Given the description of an element on the screen output the (x, y) to click on. 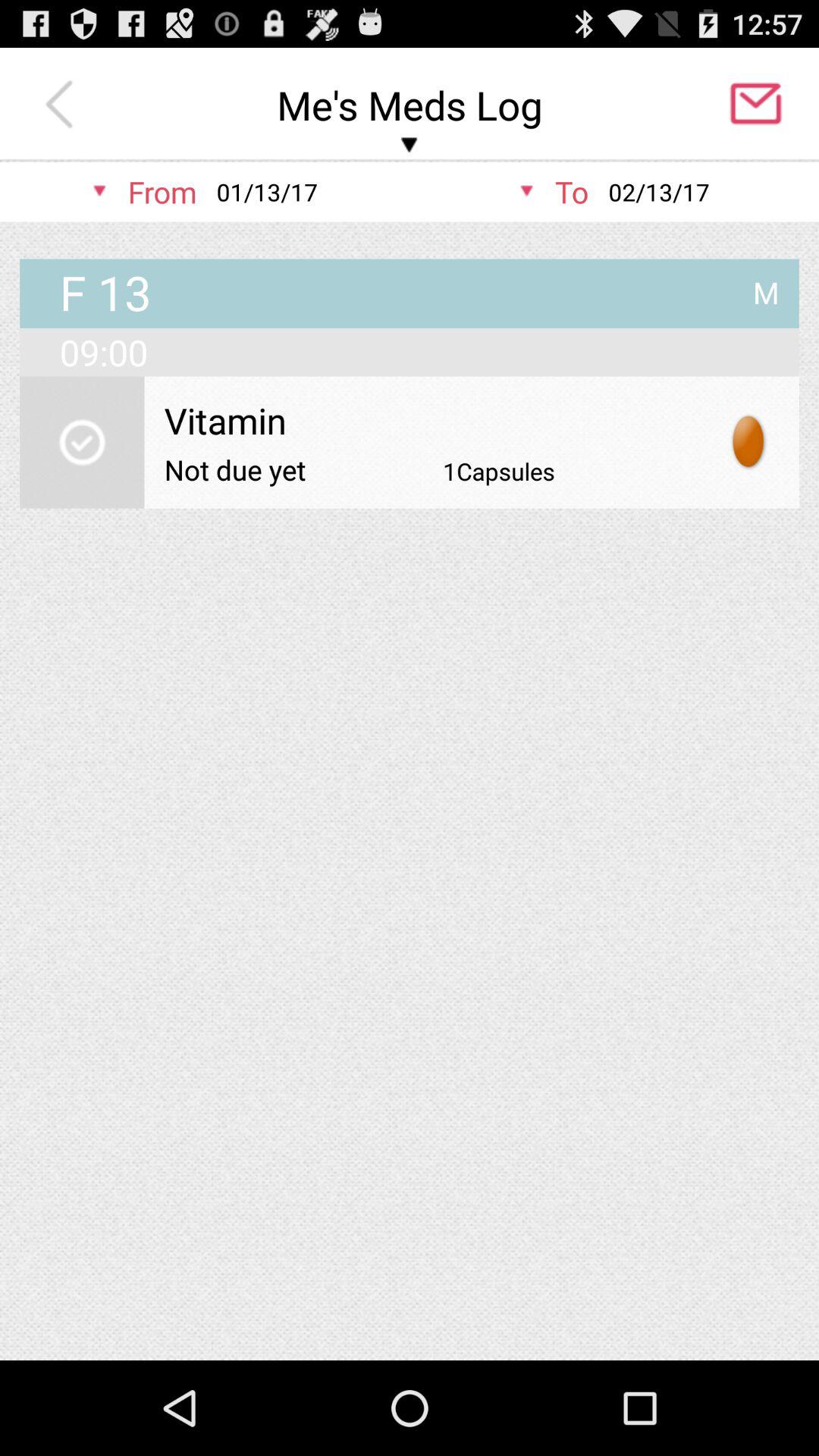
choose icon to the left of the 1capsules (234, 469)
